Given the description of an element on the screen output the (x, y) to click on. 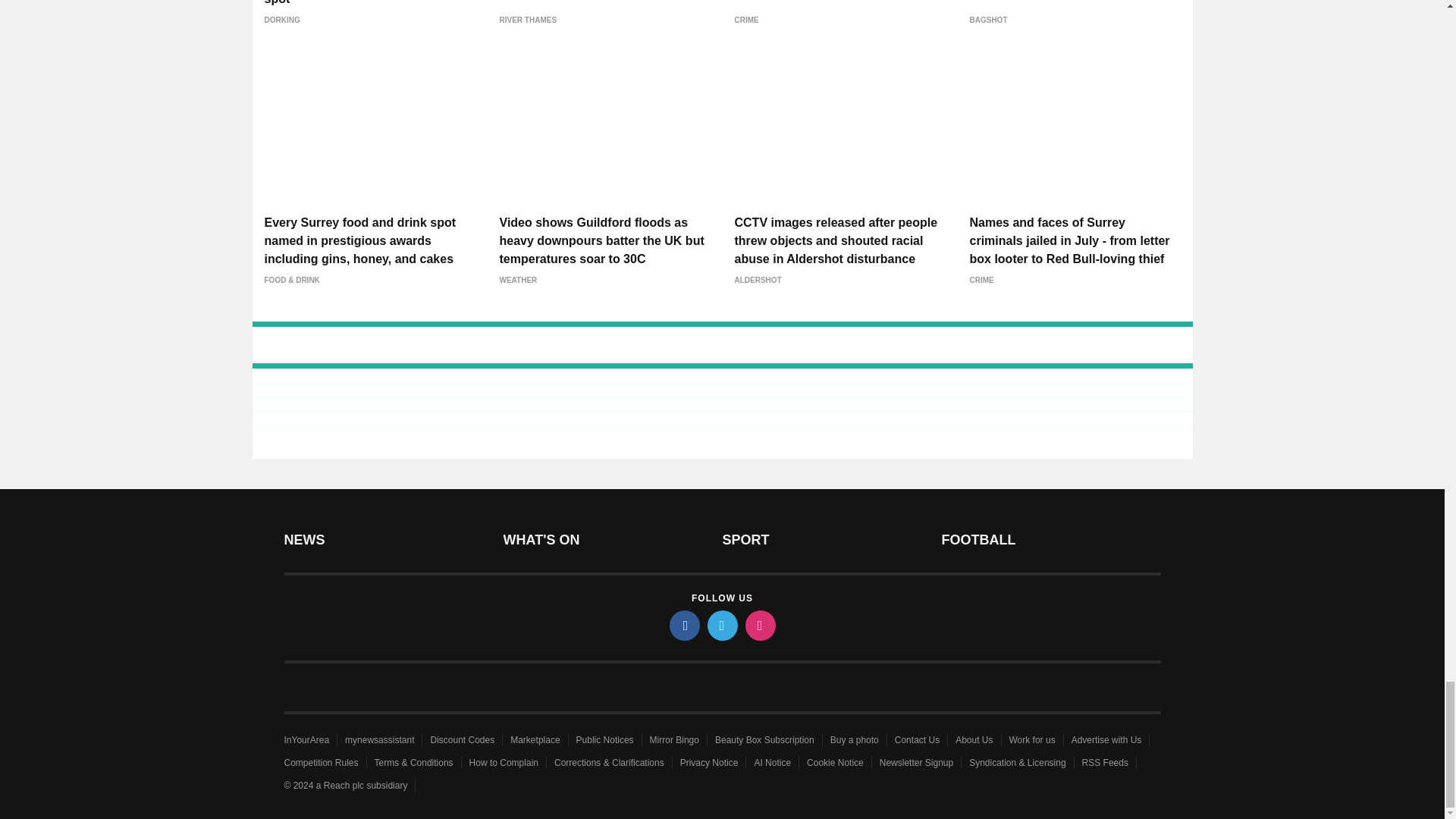
twitter (721, 625)
facebook (683, 625)
instagram (759, 625)
